Given the description of an element on the screen output the (x, y) to click on. 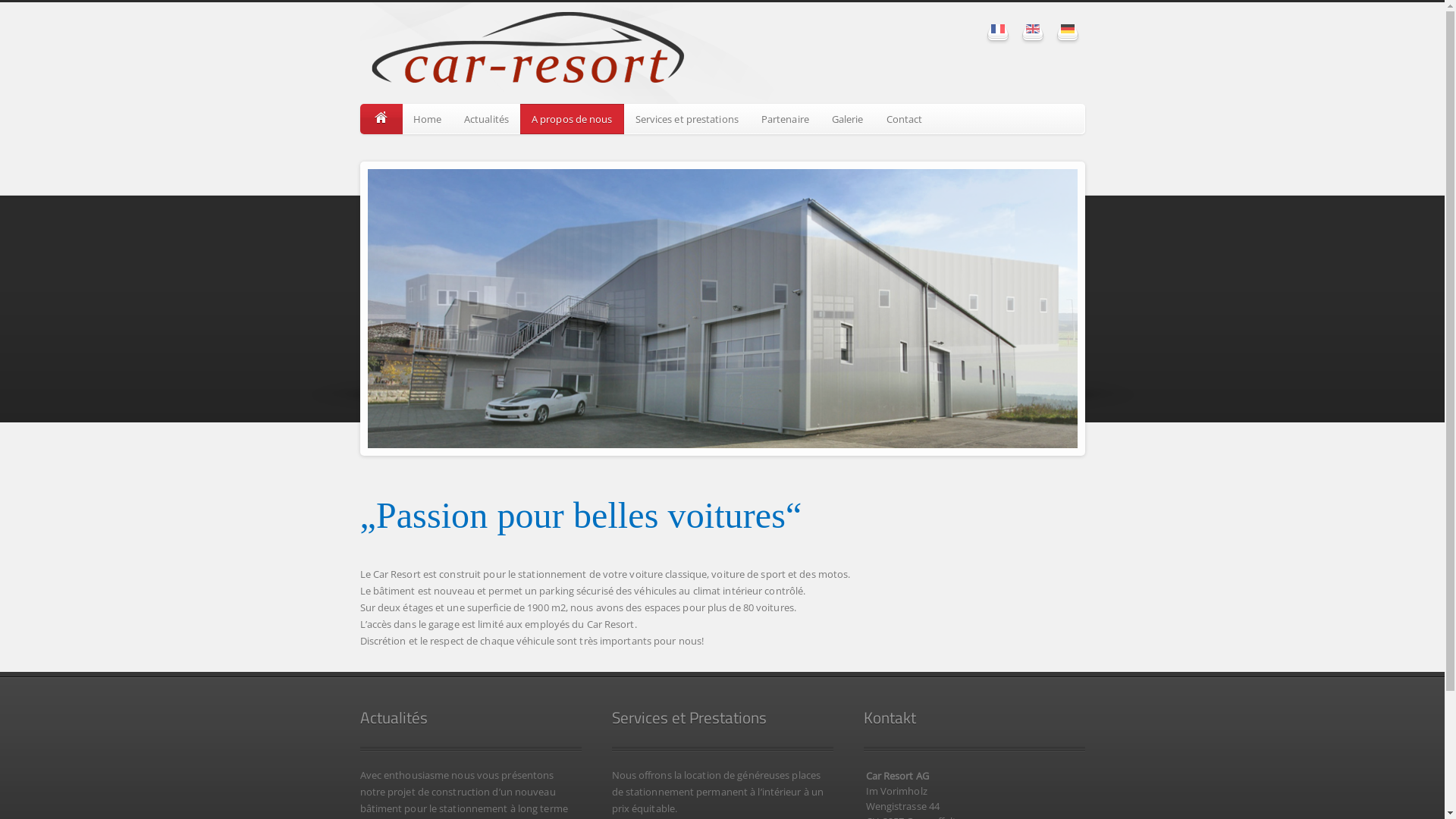
French Element type: hover (997, 28)
Contact Element type: text (904, 118)
Galerie Element type: text (847, 118)
Partenaire Element type: text (784, 118)
Deutsch Element type: hover (1066, 28)
Home Element type: text (426, 118)
. Element type: text (380, 118)
Car Resort AG Element type: hover (526, 52)
Services et prestations Element type: text (686, 118)
A propos de nous Element type: text (572, 118)
English (UK) Element type: hover (1031, 28)
